Given the description of an element on the screen output the (x, y) to click on. 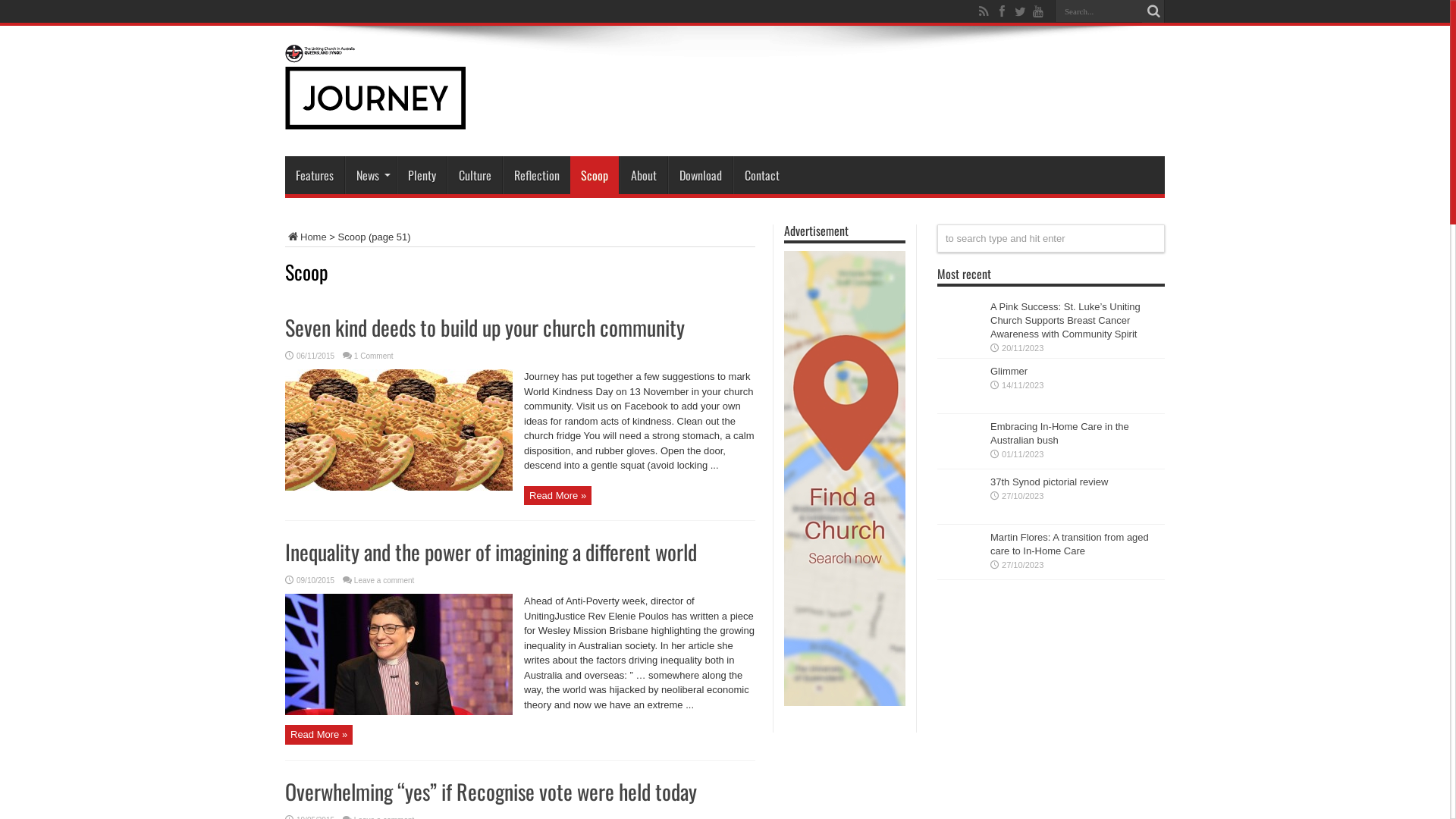
Search Element type: text (1153, 11)
News Element type: text (370, 175)
About Element type: text (643, 175)
Permalink to Embracing In-Home Care in the Australian bush Element type: hover (959, 461)
Features Element type: text (314, 175)
Scoop Element type: text (594, 175)
1 Comment Element type: text (373, 355)
Home Element type: text (305, 236)
Download Element type: text (700, 175)
Leave a comment Element type: text (384, 580)
Reflection Element type: text (536, 175)
Martin Flores: A transition from aged care to In-Home Care Element type: text (1069, 543)
Seven kind deeds to build up your church community Element type: text (484, 326)
37th Synod pictorial review Element type: text (1048, 481)
Contact Element type: text (761, 175)
Plenty Element type: text (421, 175)
Glimmer Element type: text (1008, 370)
Embracing In-Home Care in the Australian bush Element type: text (1059, 432)
JourneyOnline Element type: hover (375, 118)
Culture Element type: text (474, 175)
Inequality and the power of imagining a different world Element type: text (490, 551)
Permalink to 37th Synod pictorial review Element type: hover (959, 517)
Permalink to Glimmer Element type: hover (959, 406)
